Given the description of an element on the screen output the (x, y) to click on. 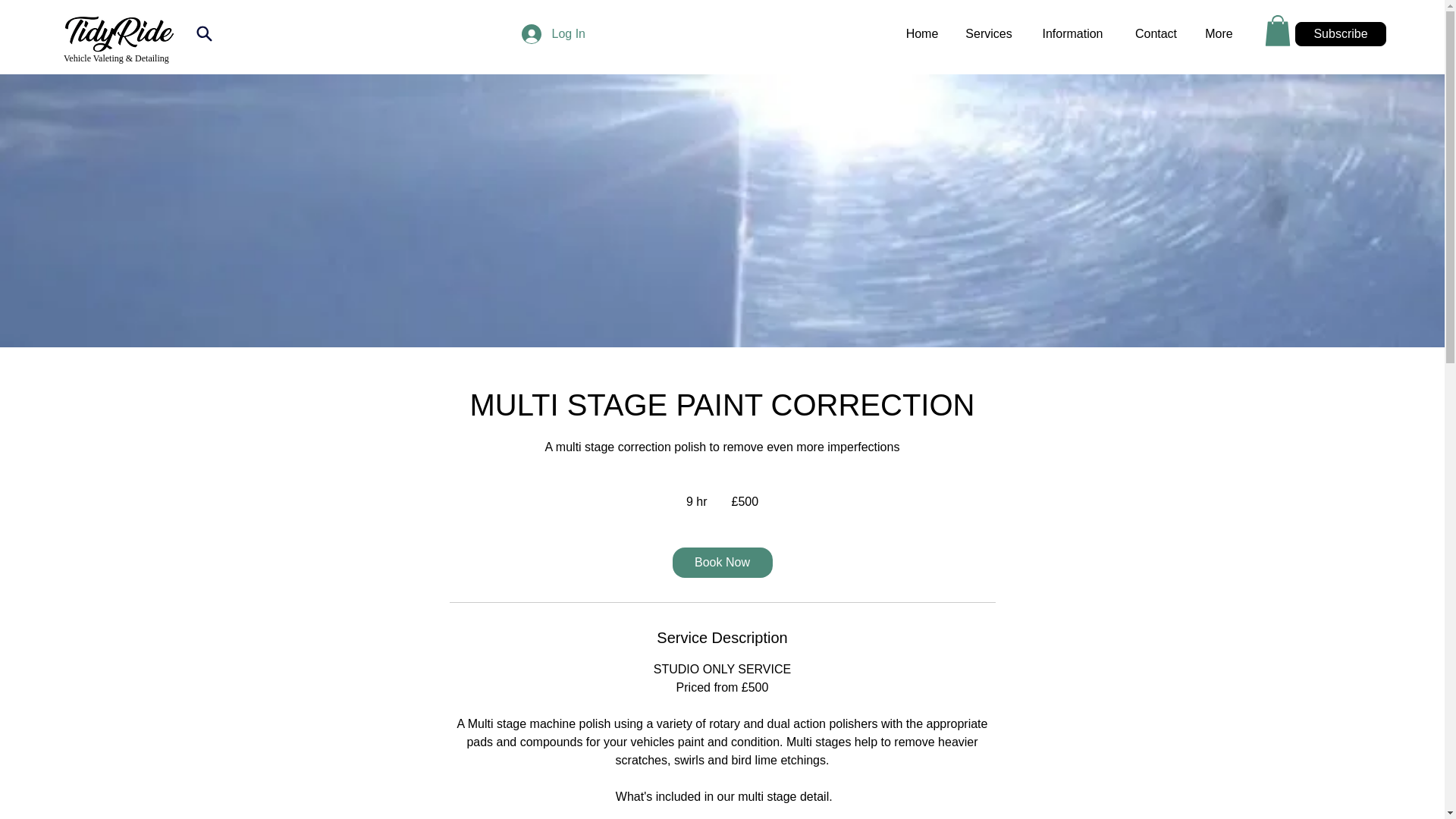
Log In (543, 33)
Home (921, 34)
Contact (1155, 34)
Subscribe (1340, 33)
Book Now (721, 562)
TidyRide (119, 34)
